Given the description of an element on the screen output the (x, y) to click on. 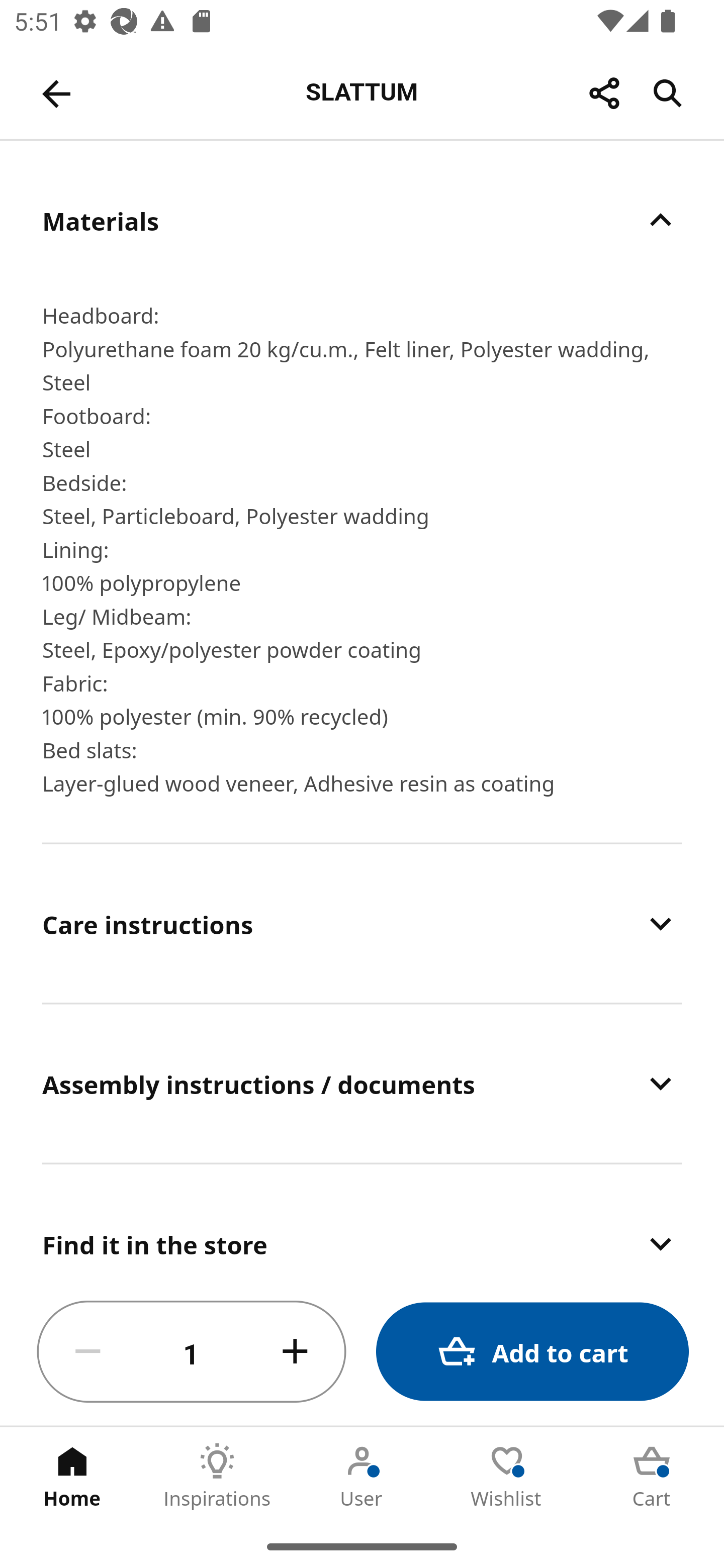
Materials (361, 219)
Care instructions (361, 923)
Assembly instructions / documents (361, 1083)
Find it in the store (361, 1221)
Add to cart (531, 1352)
1 (191, 1352)
Home
Tab 1 of 5 (72, 1476)
Inspirations
Tab 2 of 5 (216, 1476)
User
Tab 3 of 5 (361, 1476)
Wishlist
Tab 4 of 5 (506, 1476)
Cart
Tab 5 of 5 (651, 1476)
